Given the description of an element on the screen output the (x, y) to click on. 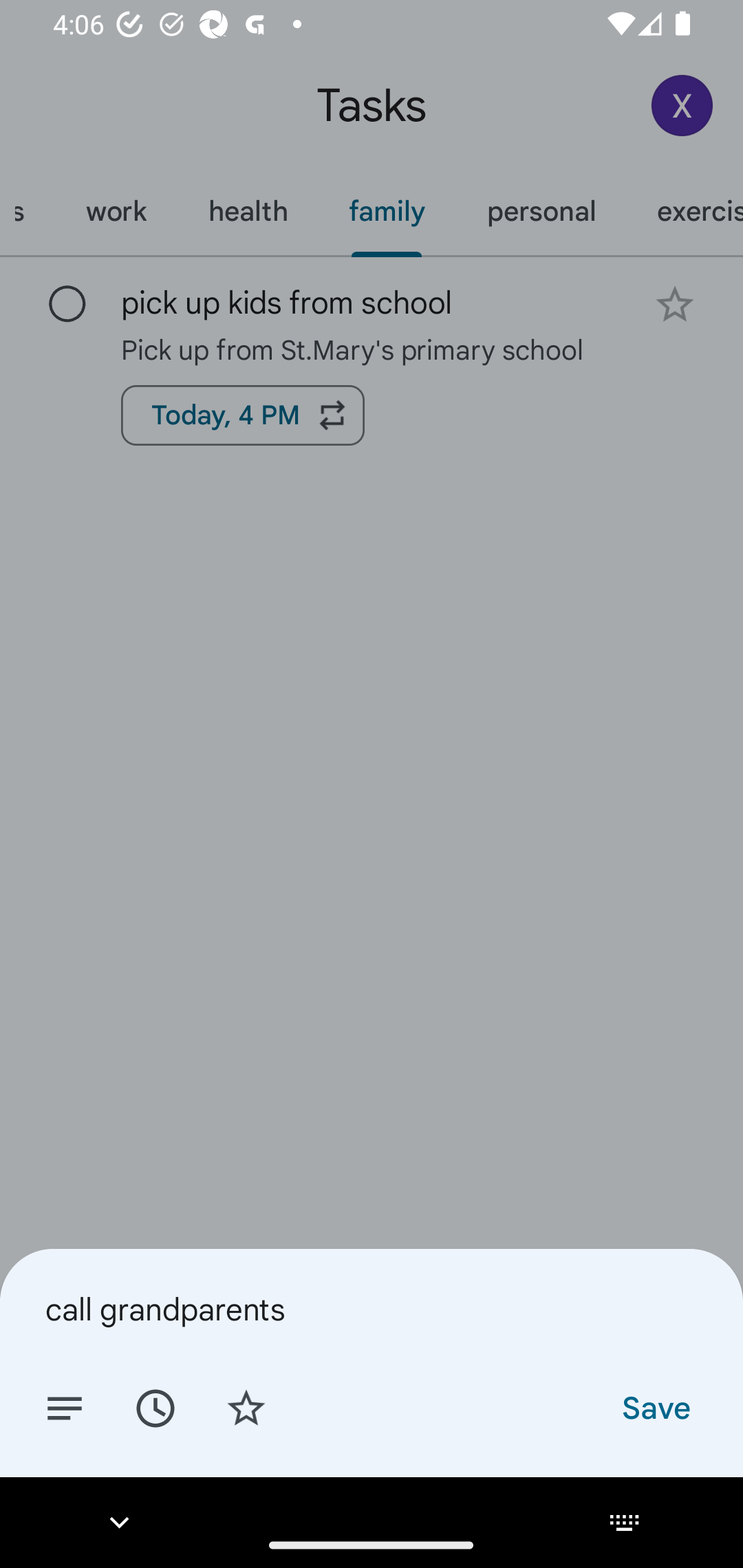
call grandparents (371, 1308)
Save (655, 1407)
Add details (64, 1407)
Set date/time (154, 1407)
Add star (245, 1407)
